Given the description of an element on the screen output the (x, y) to click on. 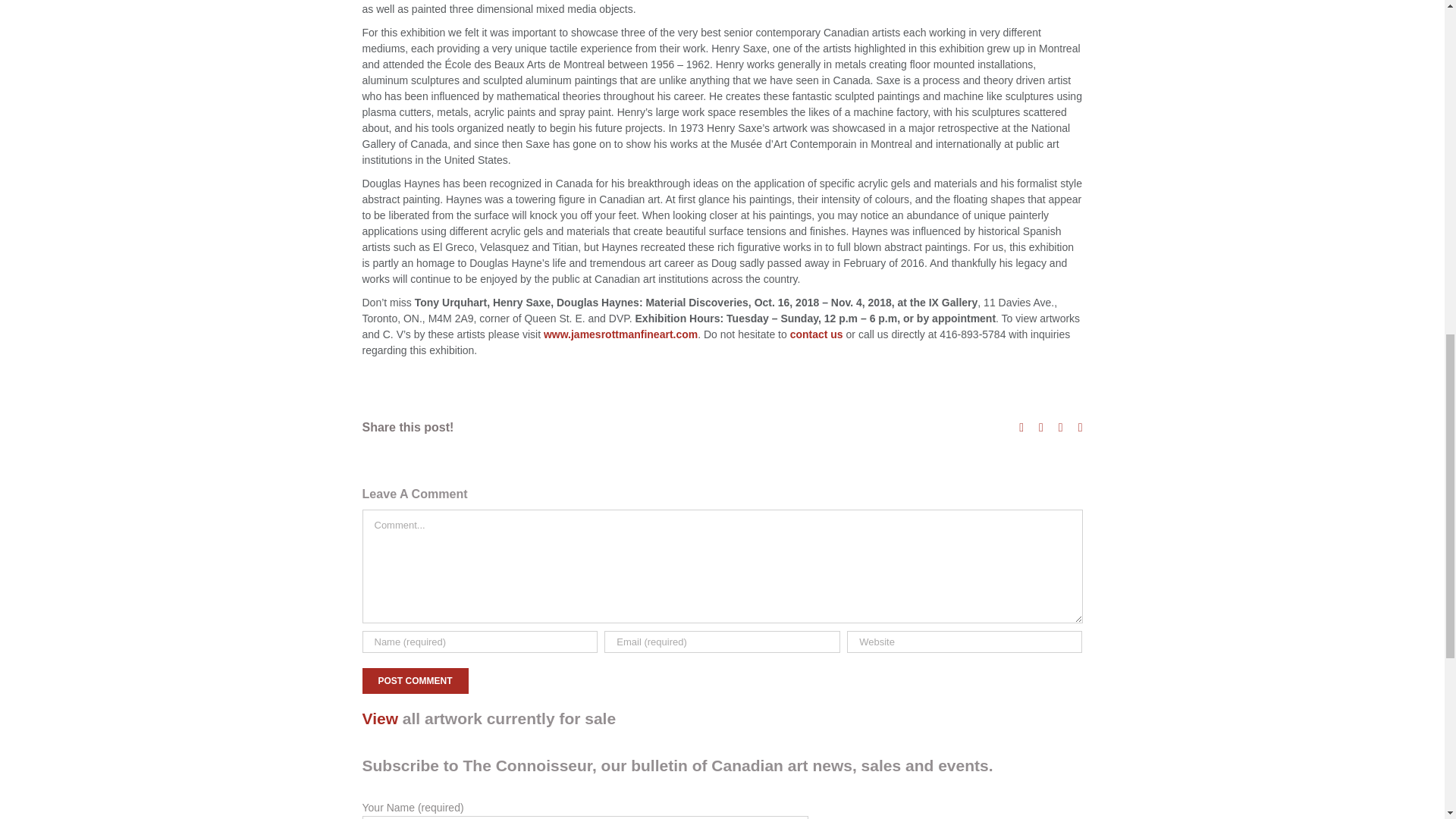
View all artwork currently for sale (722, 717)
Post Comment (415, 680)
